Given the description of an element on the screen output the (x, y) to click on. 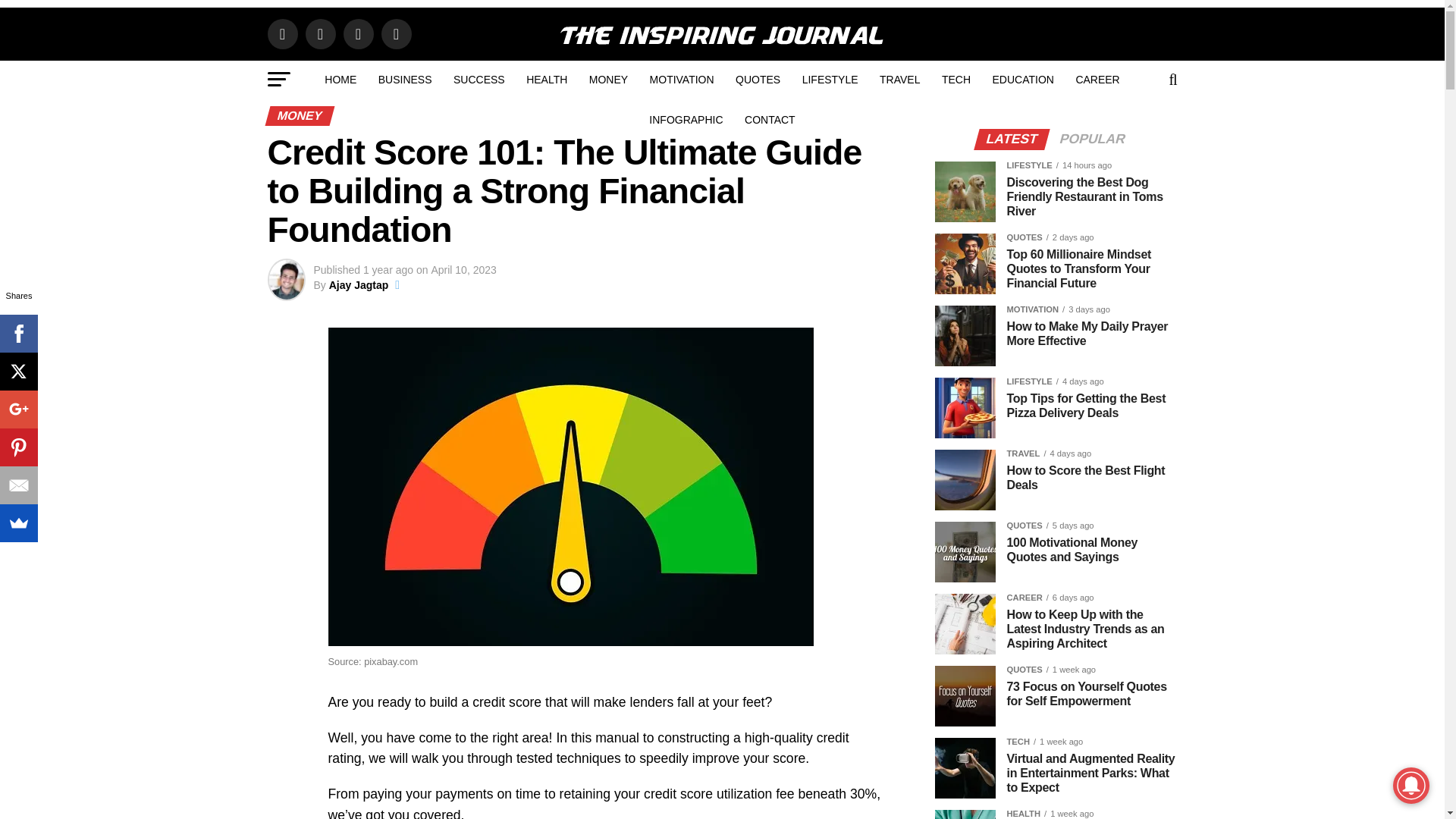
BUSINESS (405, 79)
EDUCATION (1022, 79)
MOTIVATION (681, 79)
TRAVEL (899, 79)
LIFESTYLE (830, 79)
Posts by Ajay Jagtap (358, 285)
HOME (340, 79)
HEALTH (546, 79)
TECH (956, 79)
SUCCESS (478, 79)
INFOGRAPHIC (686, 119)
MONEY (608, 79)
CAREER (1096, 79)
QUOTES (757, 79)
